Given the description of an element on the screen output the (x, y) to click on. 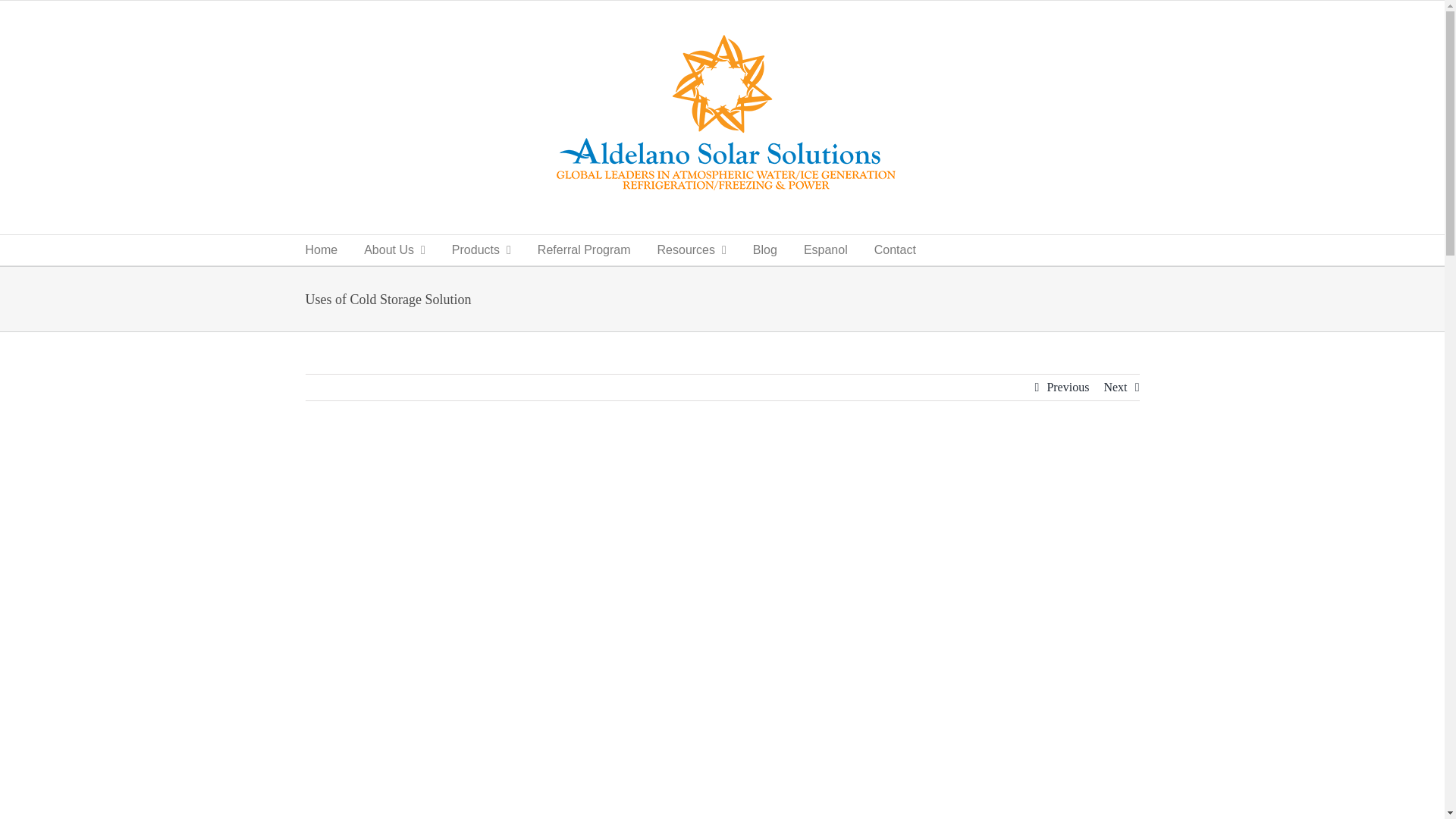
Home (320, 250)
Resources (692, 250)
Espanol (825, 250)
About Us (394, 250)
Products (481, 250)
Referral Program (583, 250)
